Given the description of an element on the screen output the (x, y) to click on. 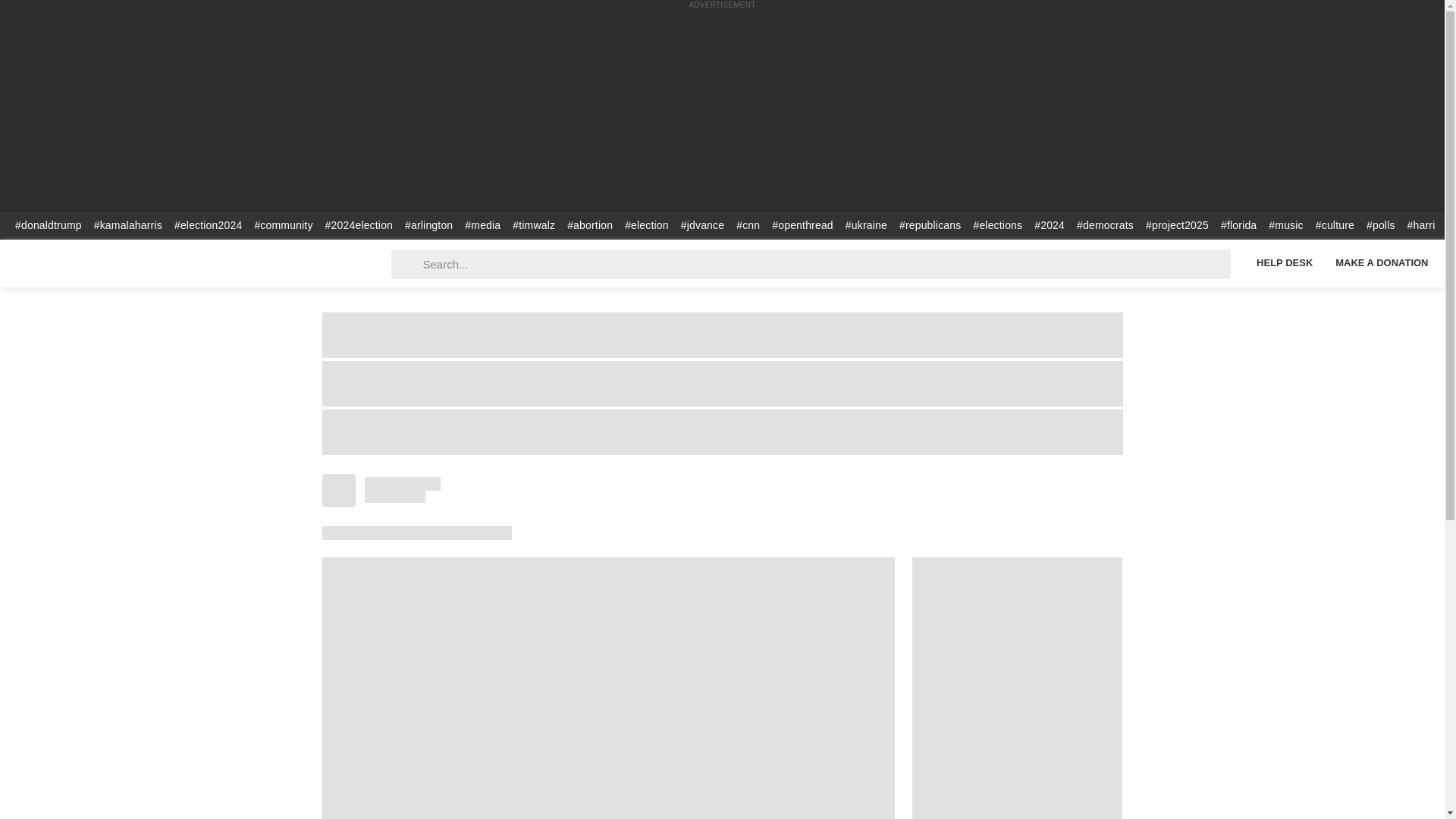
Make a Donation (1381, 262)
MAKE A DONATION (1381, 262)
Help Desk (1283, 262)
